Given the description of an element on the screen output the (x, y) to click on. 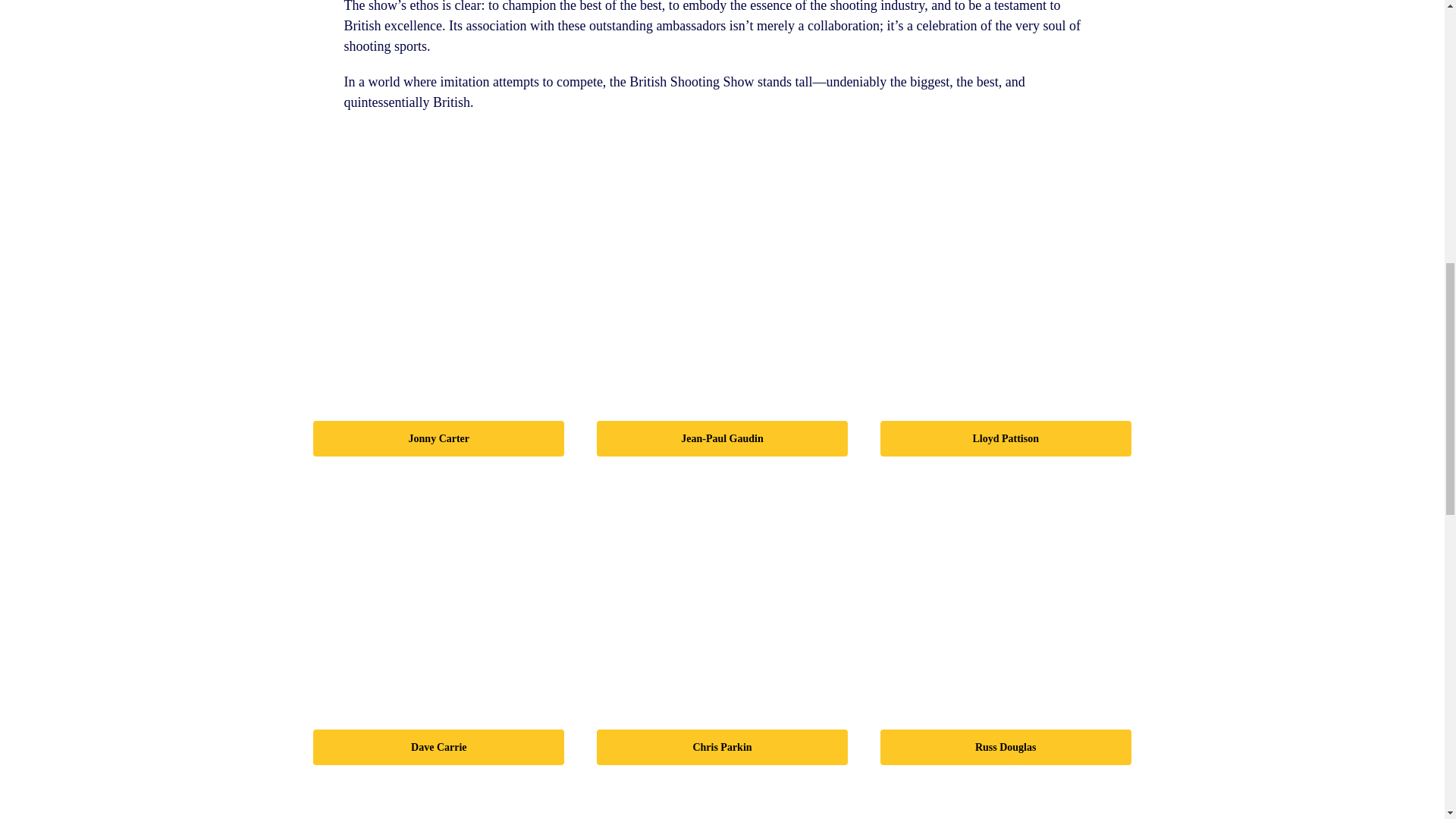
Lloyd Pattison (1005, 287)
Lloyd Pattison (1005, 438)
Dave Carrie (438, 596)
Jean-Paul Gaudin (721, 287)
Jonny Carter (438, 287)
Jonny Carter (438, 438)
Jean-Paul Gaudin (721, 438)
Russ Douglas (1005, 746)
Dave Carrie (438, 746)
Chris Parkin (721, 596)
